Given the description of an element on the screen output the (x, y) to click on. 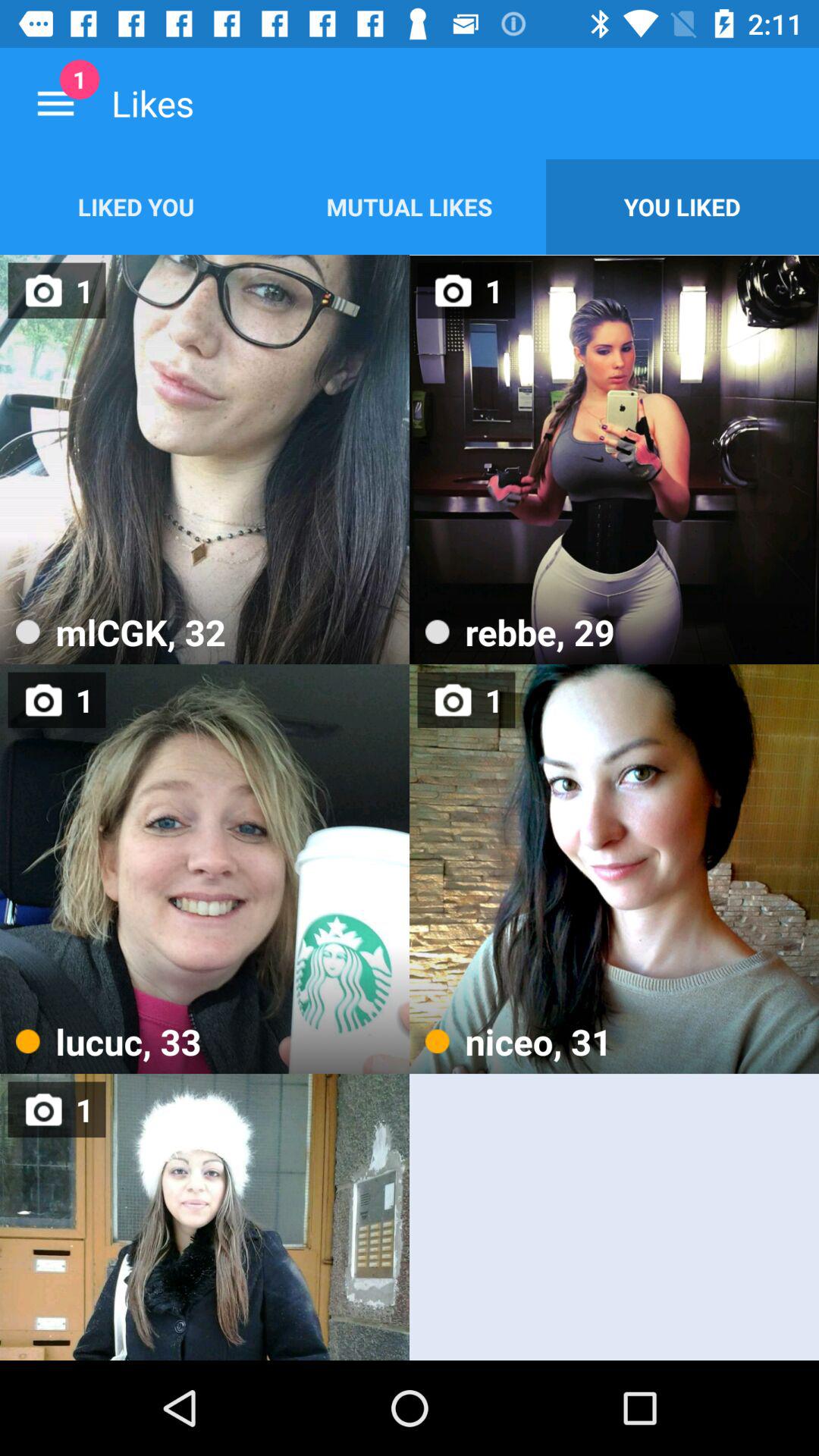
press the icon next to likes item (55, 103)
